Given the description of an element on the screen output the (x, y) to click on. 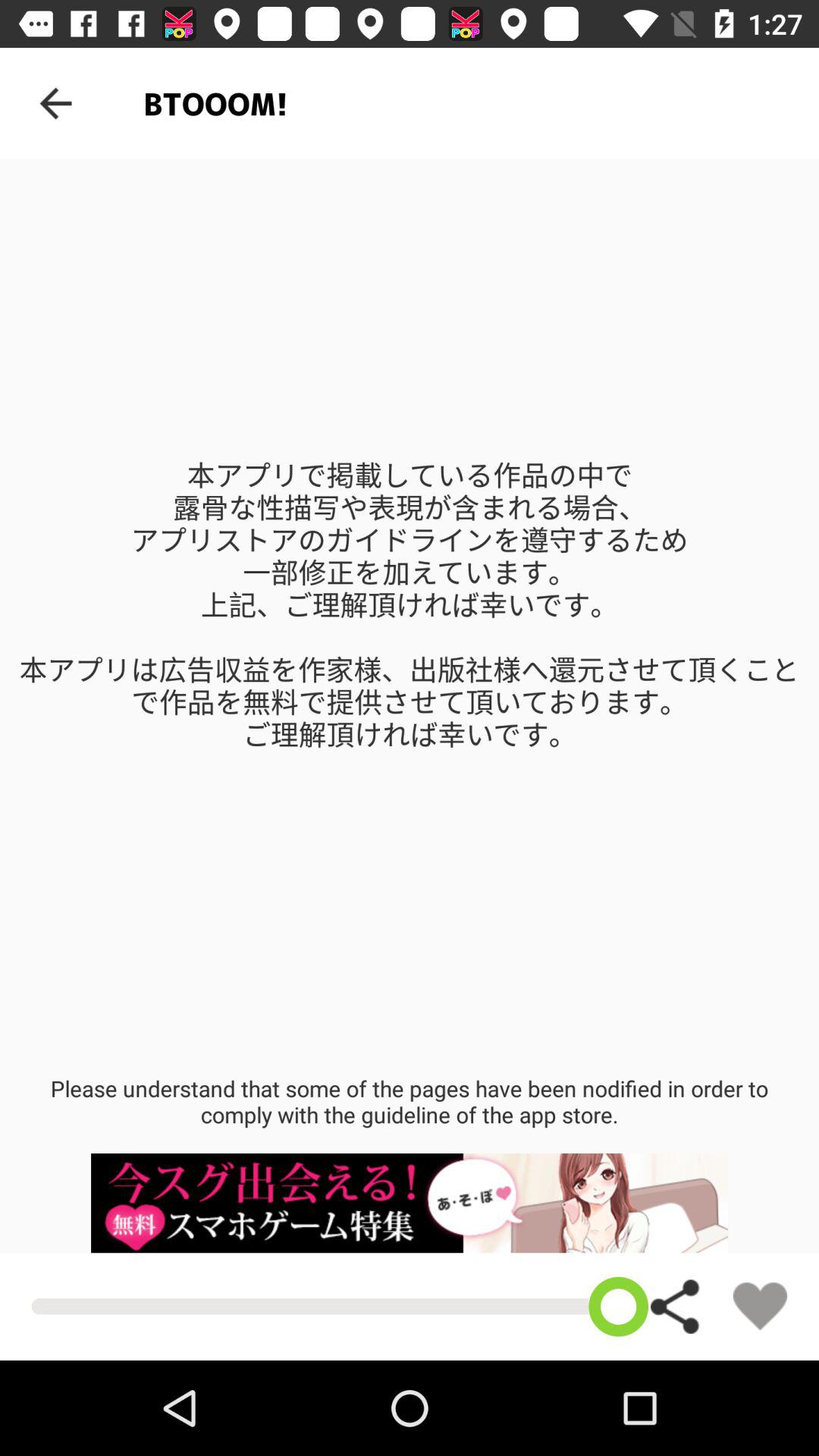
back (55, 103)
